Given the description of an element on the screen output the (x, y) to click on. 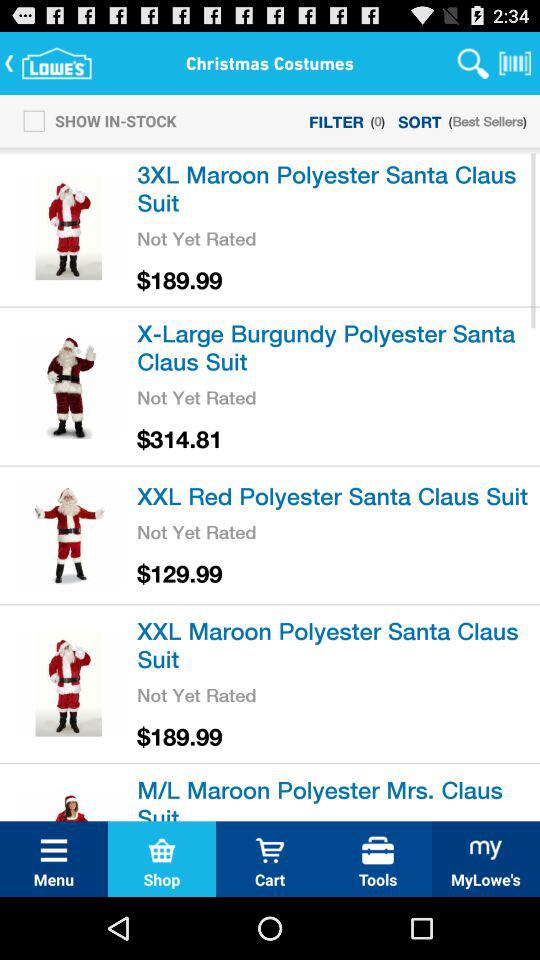
launch the icon to the right of (0) (419, 120)
